Given the description of an element on the screen output the (x, y) to click on. 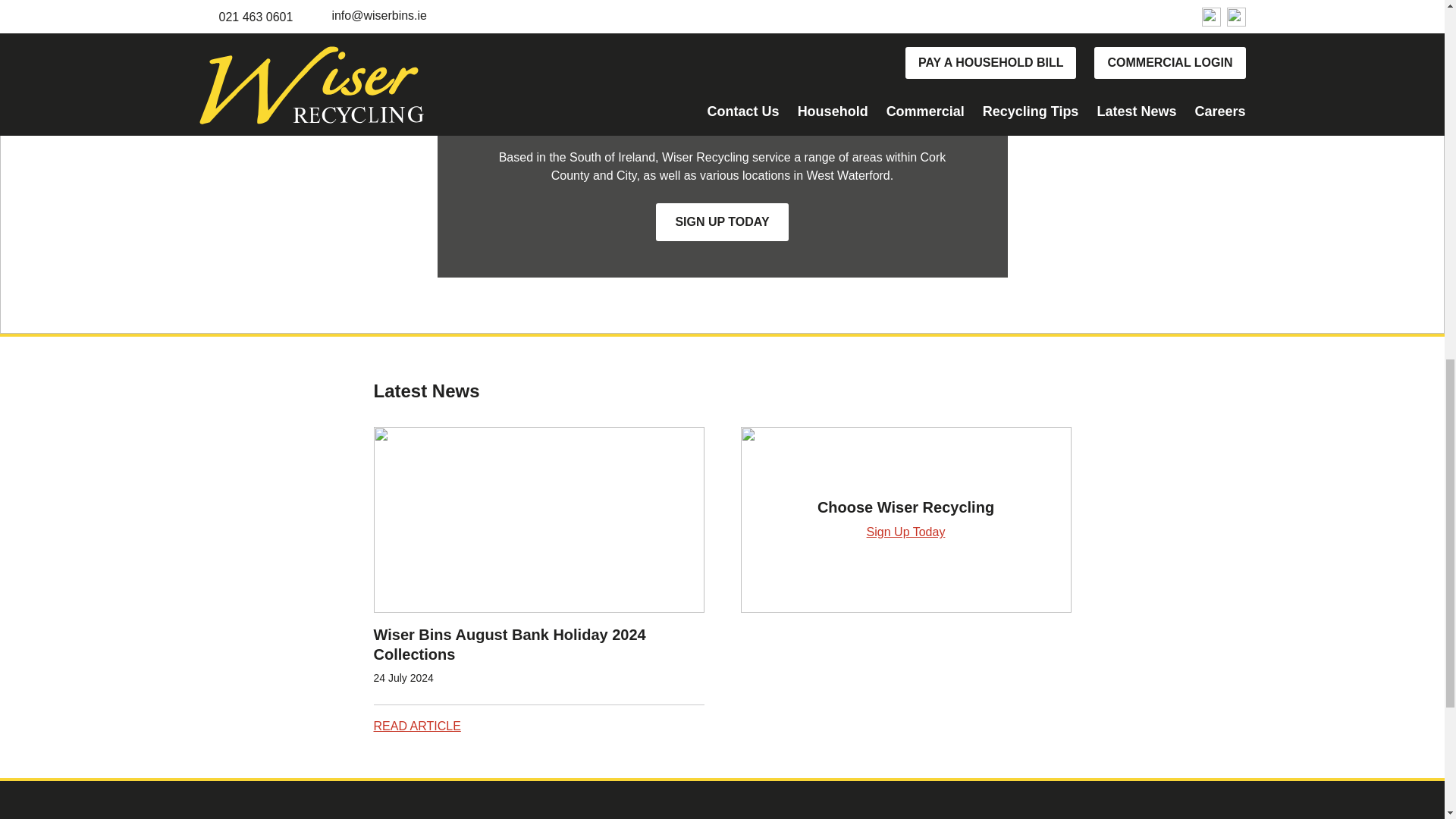
Sign Up Today (905, 532)
READ ARTICLE (416, 726)
SIGN UP TODAY (721, 221)
